Given the description of an element on the screen output the (x, y) to click on. 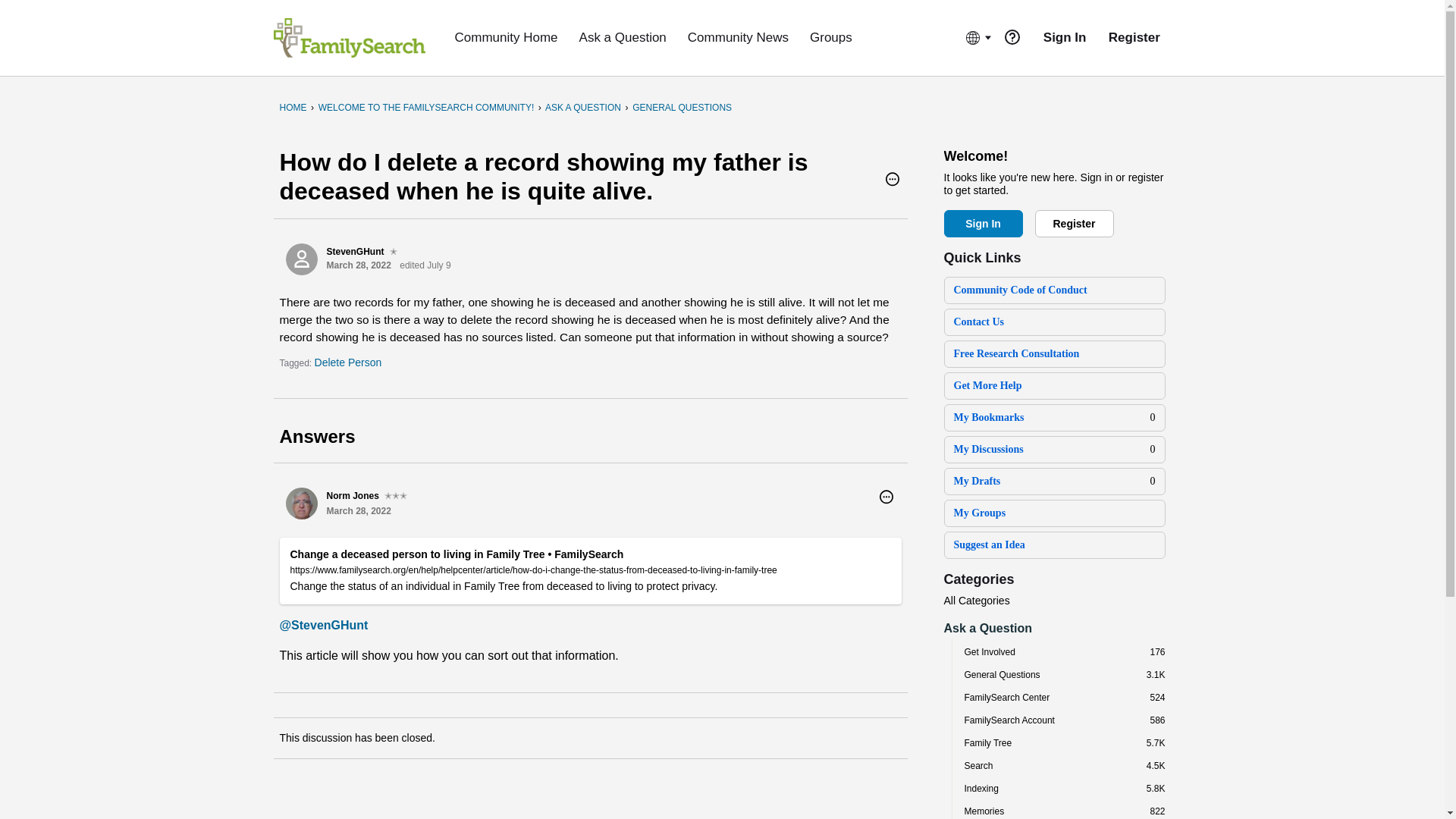
March 28, 2022 12:13AM (358, 511)
Norm Jones (301, 503)
524 discussions (1157, 697)
3,143 discussions (1156, 674)
Level 1 (393, 251)
Edited July 9, 2024 6:16PM by LauraleeT1. (423, 265)
Sign In (982, 222)
Register (1073, 222)
StevenGHunt (301, 259)
4,486 discussions (1156, 765)
5,737 discussions (1156, 742)
5,813 discussions (1156, 787)
notice-question (1012, 36)
March 28, 2022 12:05AM (358, 265)
